Given the description of an element on the screen output the (x, y) to click on. 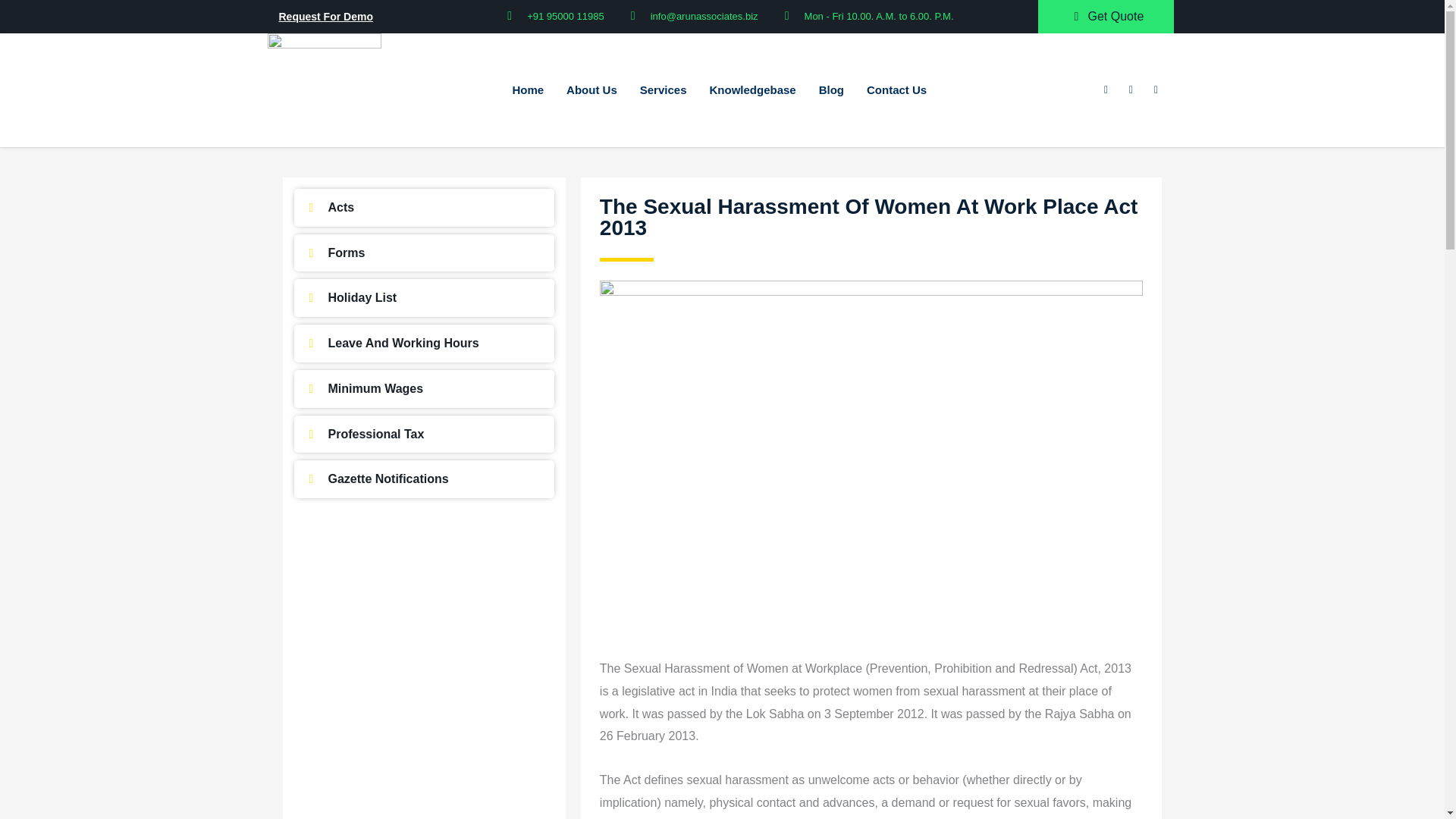
Get Quote (1105, 15)
Contact Us (896, 89)
Knowledgebase (751, 89)
Blog (832, 89)
Home (527, 89)
About Us (591, 89)
Services (663, 89)
